Given the description of an element on the screen output the (x, y) to click on. 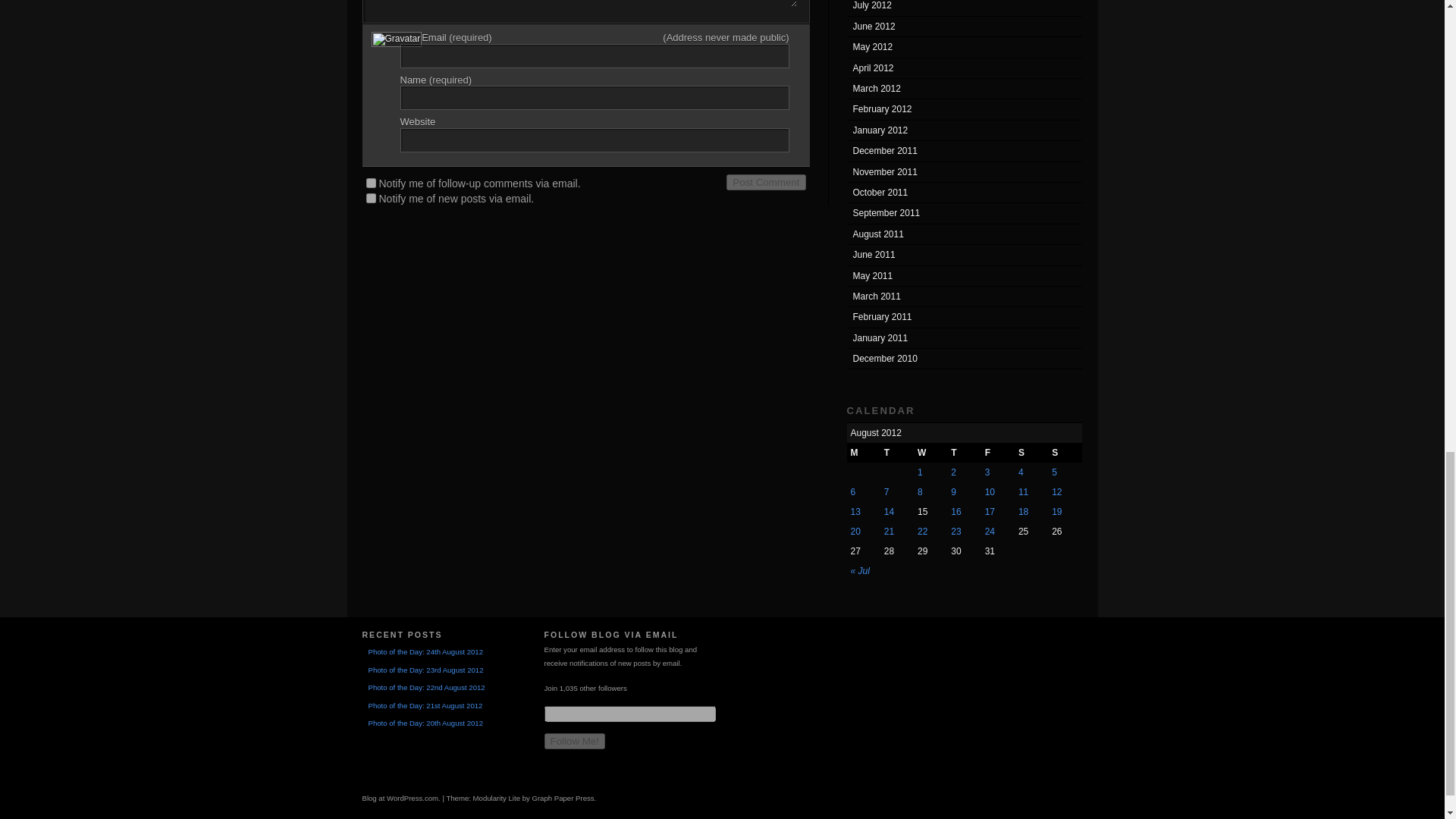
December 2011 (963, 150)
February 2011 (963, 317)
July 2012 (963, 7)
May 2011 (963, 276)
December 2010 (963, 358)
April 2012 (963, 68)
January 2012 (963, 130)
July 2012 (963, 7)
March 2012 (963, 88)
September 2011 (963, 213)
